Given the description of an element on the screen output the (x, y) to click on. 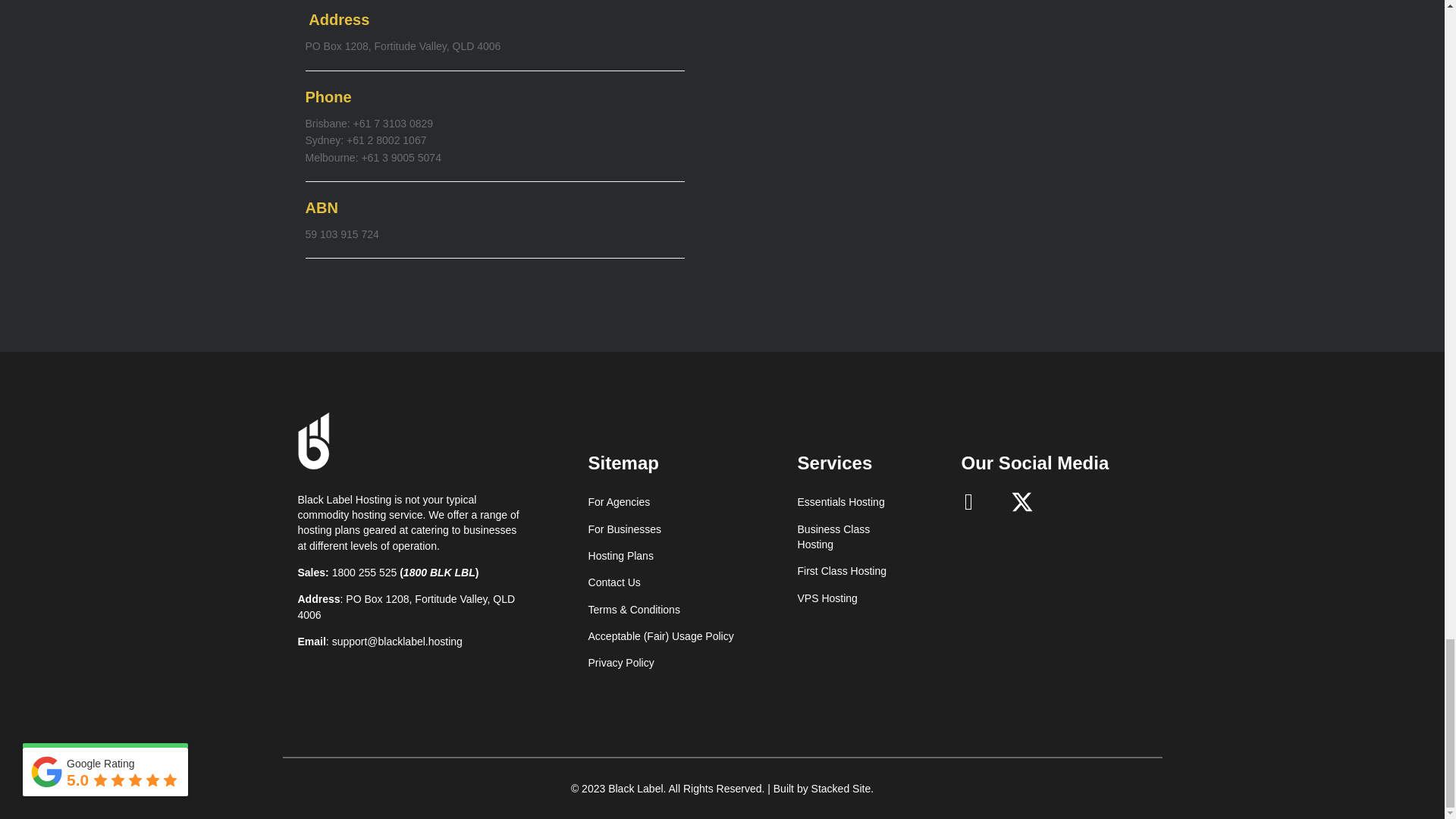
Hosting Plans (620, 555)
For Agencies (619, 501)
Privacy Policy (620, 662)
Contact Us (614, 582)
For Businesses (624, 529)
Facebook (968, 501)
